Given the description of an element on the screen output the (x, y) to click on. 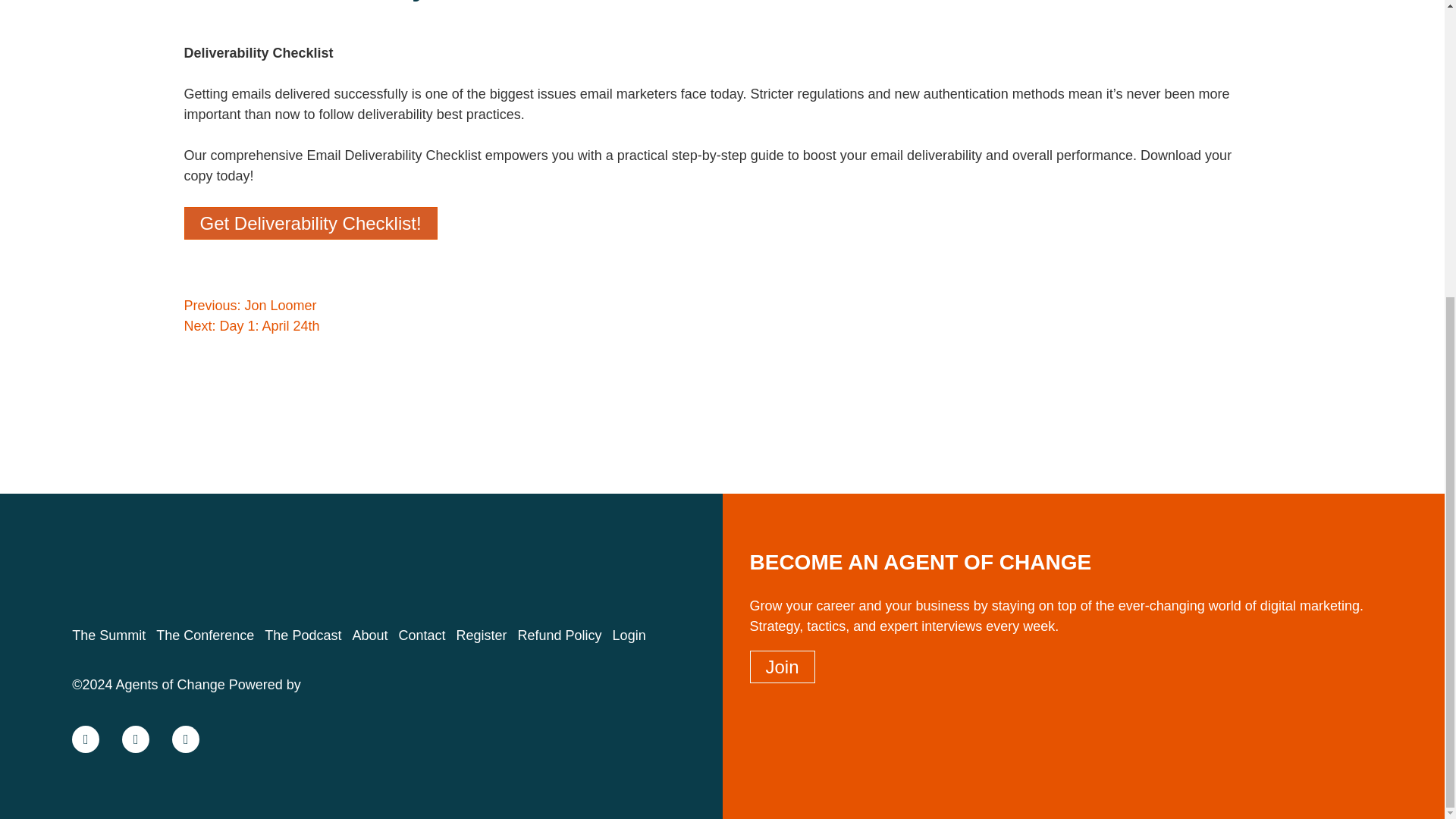
Login (632, 635)
The Conference (207, 635)
Previous: Jon Loomer (249, 305)
Refund Policy (563, 635)
Join (781, 666)
The Summit (111, 635)
Next: Day 1: April 24th (250, 325)
Register (485, 635)
The Podcast (305, 635)
Contact (424, 635)
Get Deliverability Checklist! (309, 223)
About (373, 635)
